Given the description of an element on the screen output the (x, y) to click on. 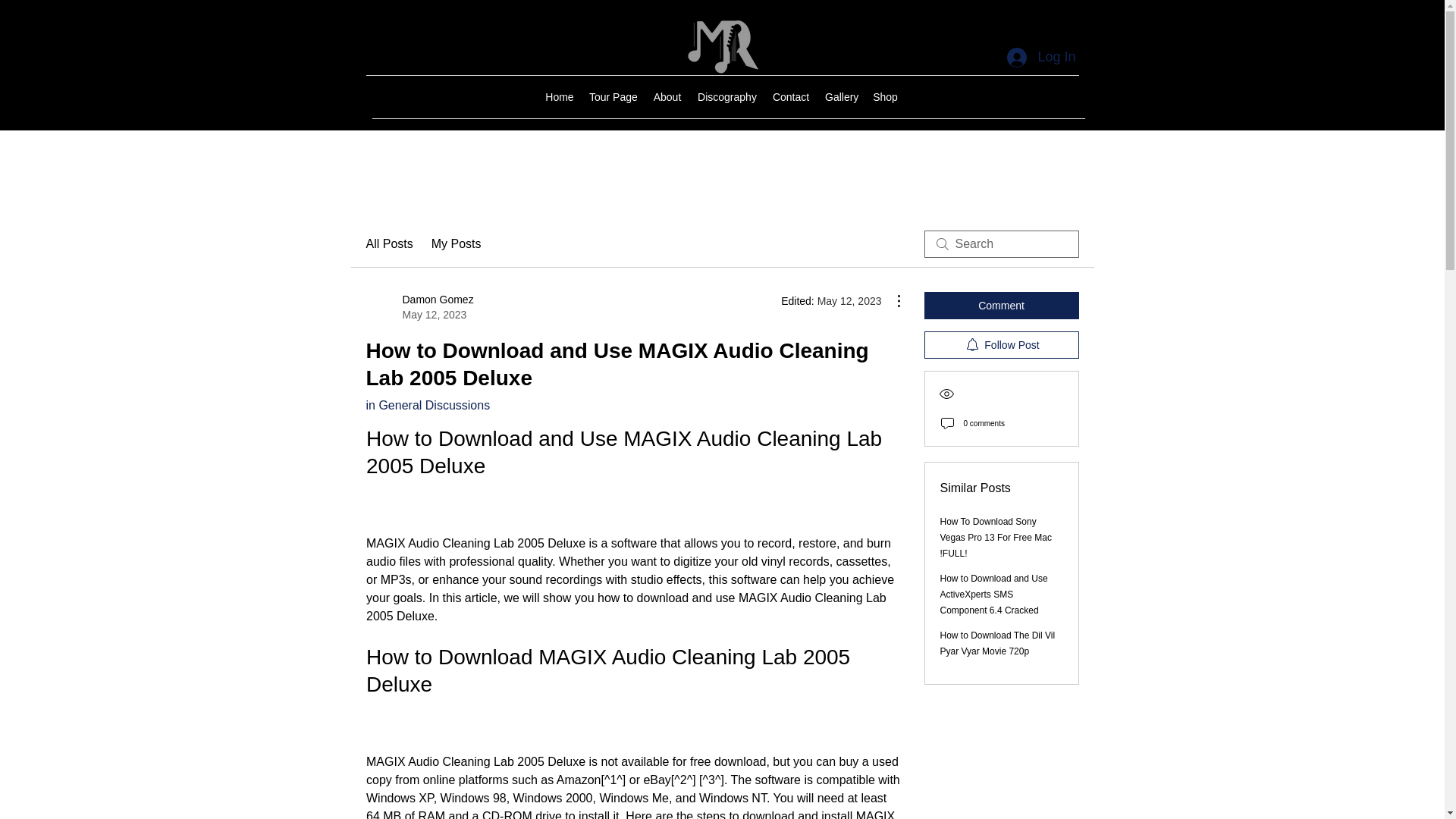
How to Download The Dil Vil Pyar Vyar Movie 720p (997, 642)
How To Download Sony Vegas Pro 13 For Free Mac !FULL! (995, 537)
Discography (727, 96)
All Posts (388, 244)
Home (558, 96)
Comment (1000, 305)
Contact (790, 96)
Follow Post (1000, 344)
My Posts (455, 244)
About (667, 96)
Tour Page (612, 96)
Shop (419, 306)
Gallery (884, 96)
Log In (840, 96)
